Given the description of an element on the screen output the (x, y) to click on. 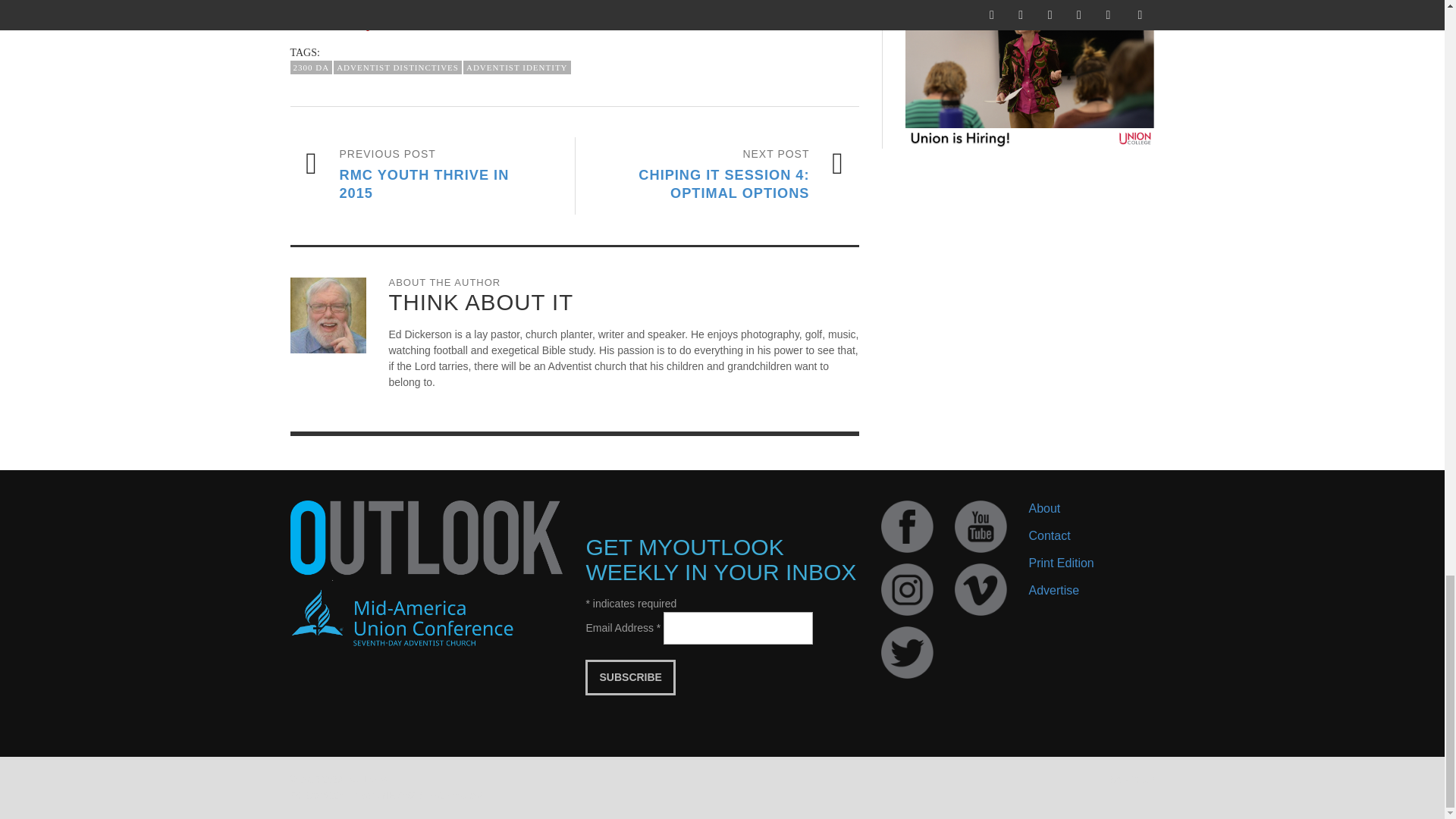
Subscribe (630, 677)
